Given the description of an element on the screen output the (x, y) to click on. 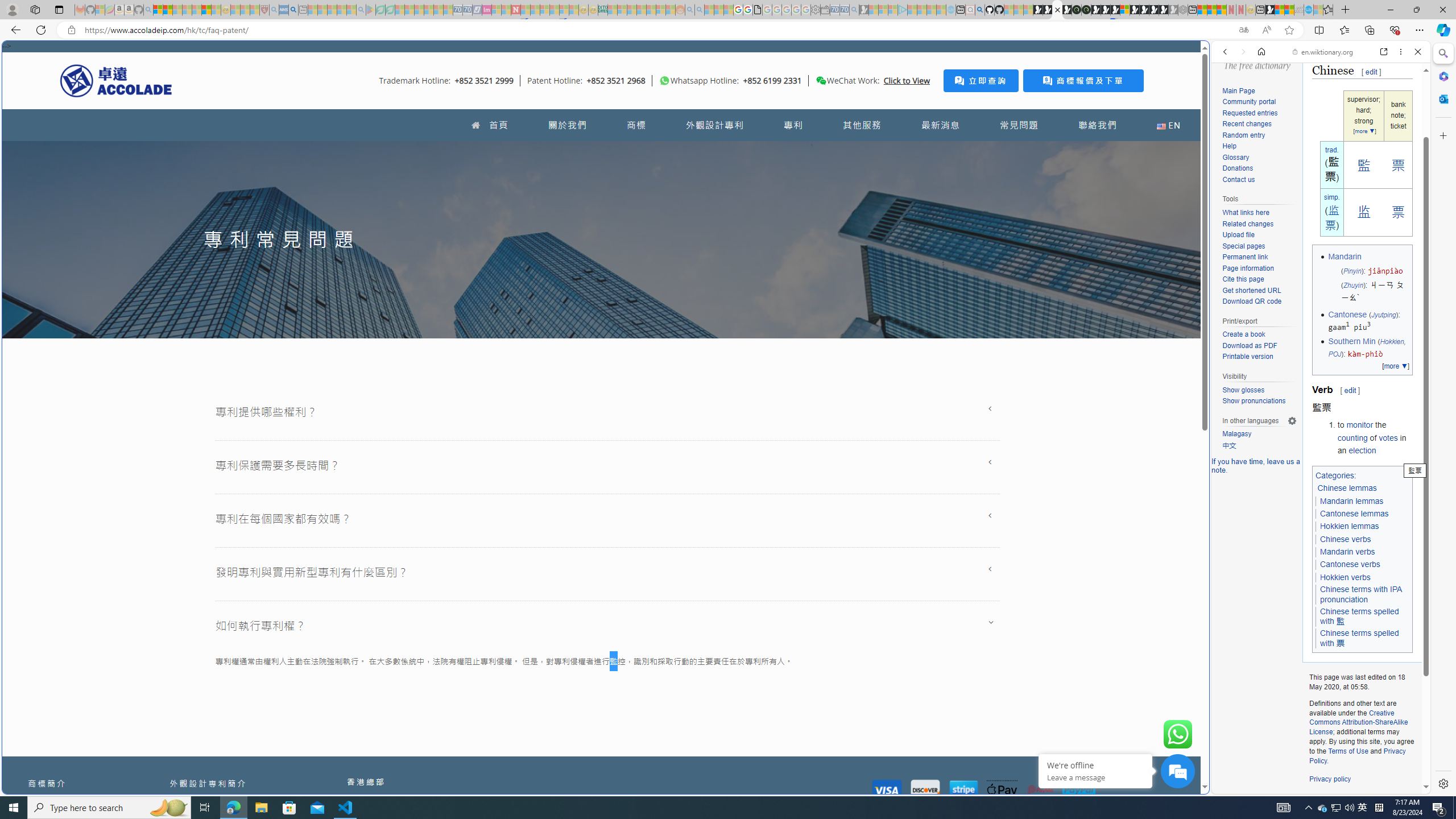
Download QR code (1259, 301)
Cantonese (1347, 314)
trad. (1331, 149)
election (1361, 450)
utah sues federal government - Search (922, 389)
